Given the description of an element on the screen output the (x, y) to click on. 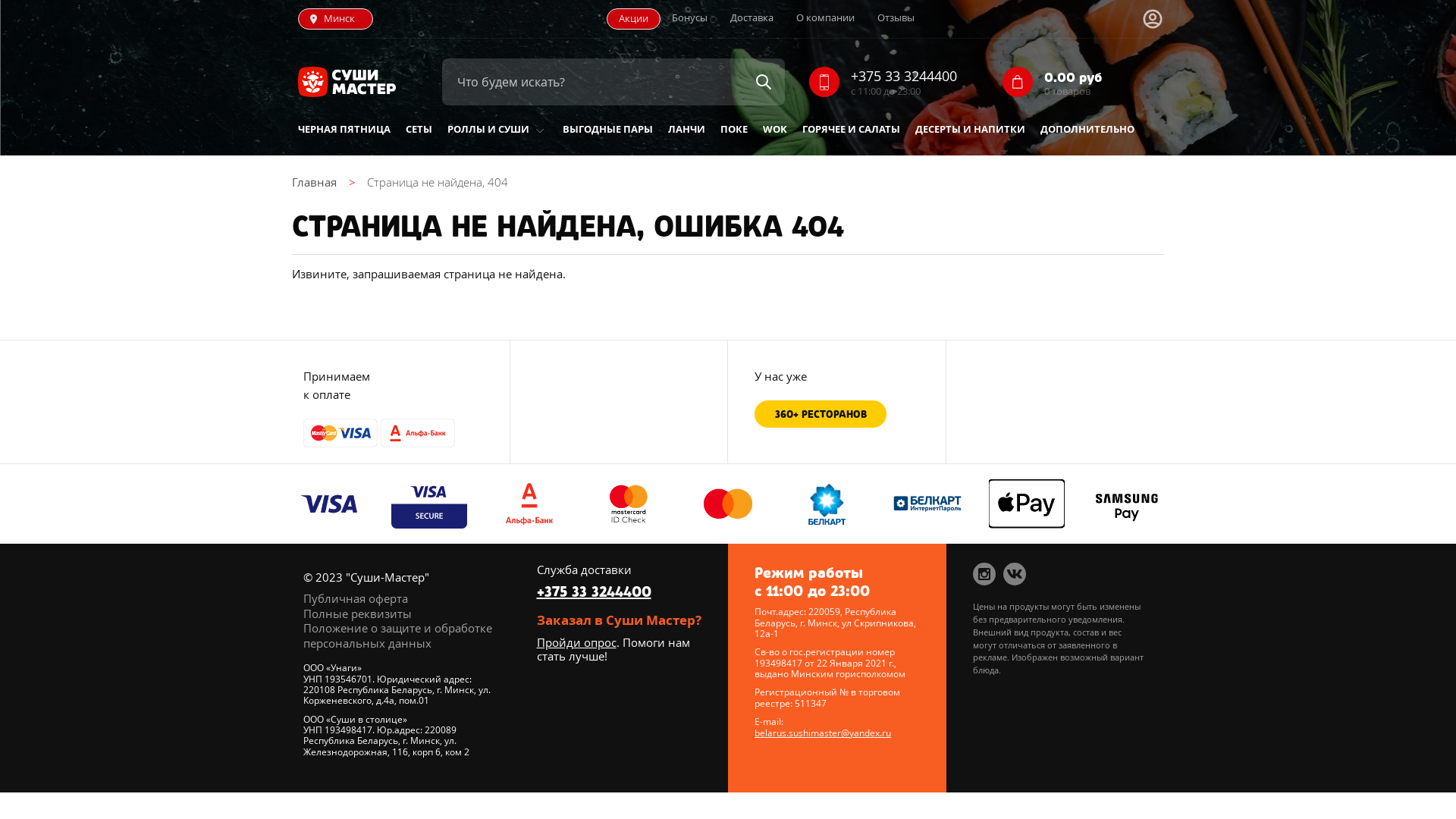
belarus.sushimaster@yandex.ru Element type: text (822, 732)
+375 33 3244400 Element type: text (903, 75)
WOK Element type: text (774, 129)
